Given the description of an element on the screen output the (x, y) to click on. 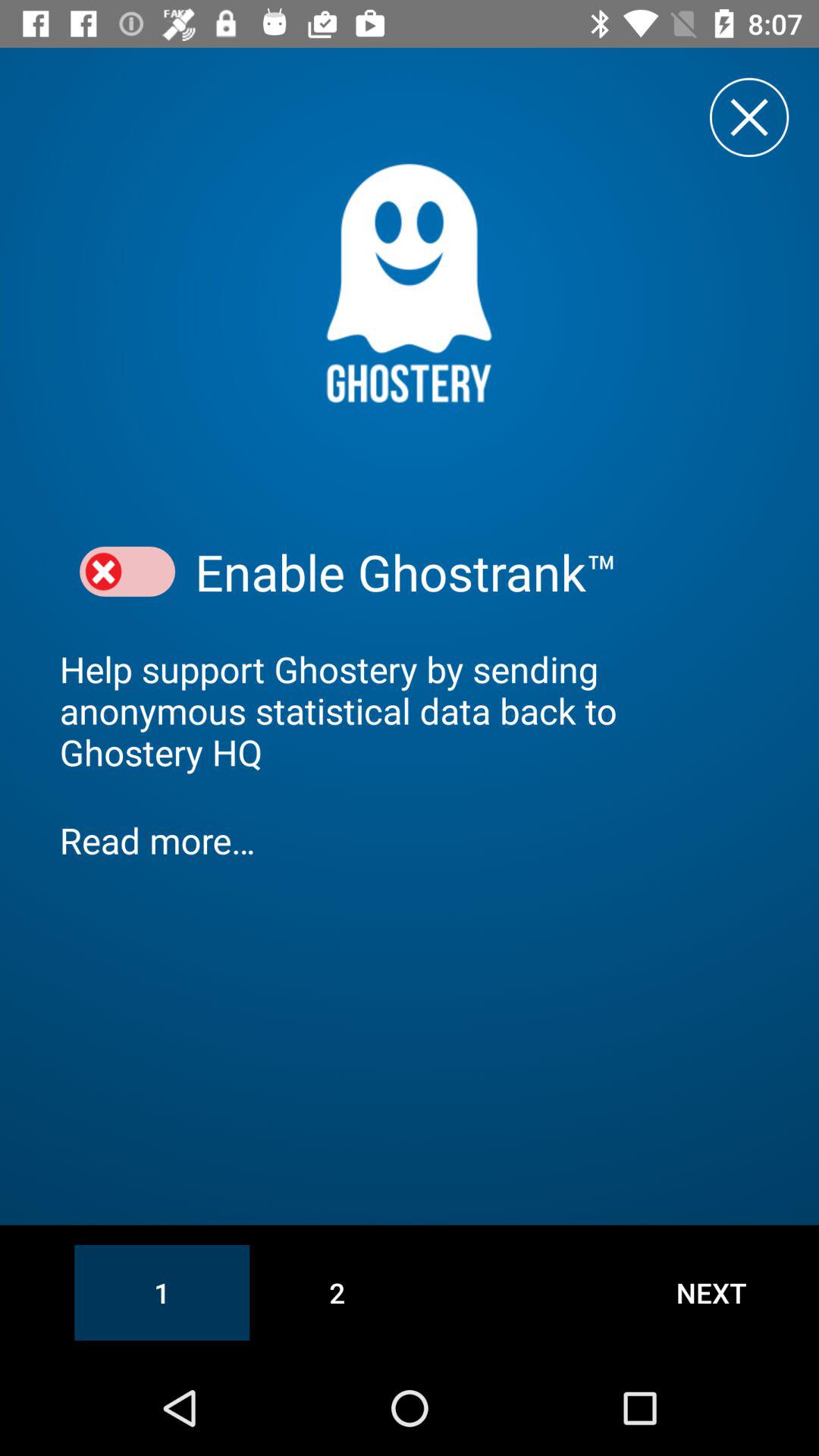
turn off item to the right of 2 icon (711, 1292)
